Given the description of an element on the screen output the (x, y) to click on. 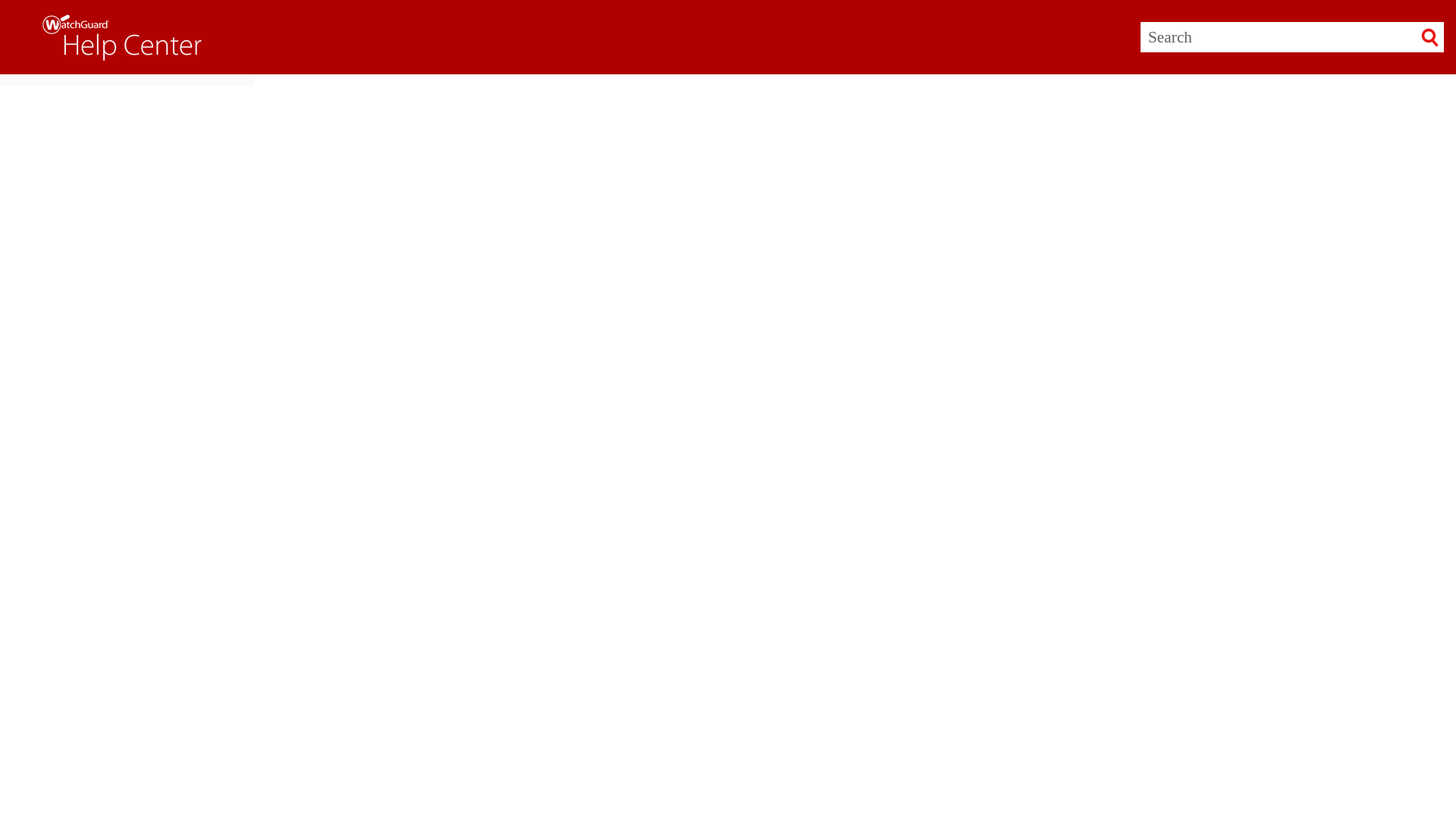
About Centralized Management Modes (374, 577)
Search (1430, 37)
Give Us Feedback (319, 612)
Technical Search (597, 612)
All Product Documentation (492, 612)
Install and Set Up the WatchGuard Management Server (413, 550)
Get Support (397, 612)
